Given the description of an element on the screen output the (x, y) to click on. 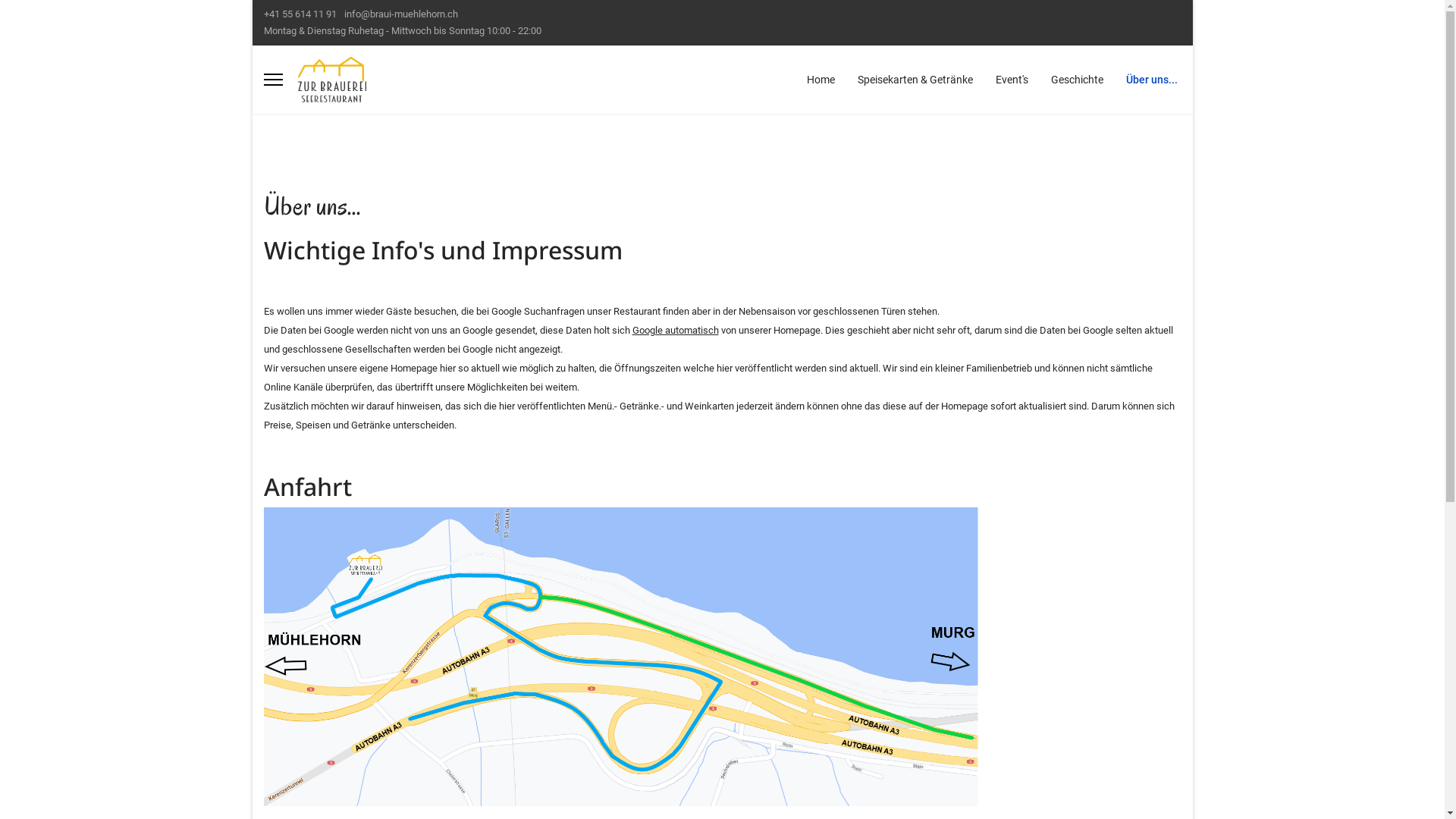
+41 55 614 11 91 Element type: text (299, 13)
Home Element type: text (819, 79)
Menu Element type: hover (272, 79)
Geschichte Element type: text (1075, 79)
Event's Element type: text (1011, 79)
info@braui-muehlehorn.ch Element type: text (401, 13)
